Given the description of an element on the screen output the (x, y) to click on. 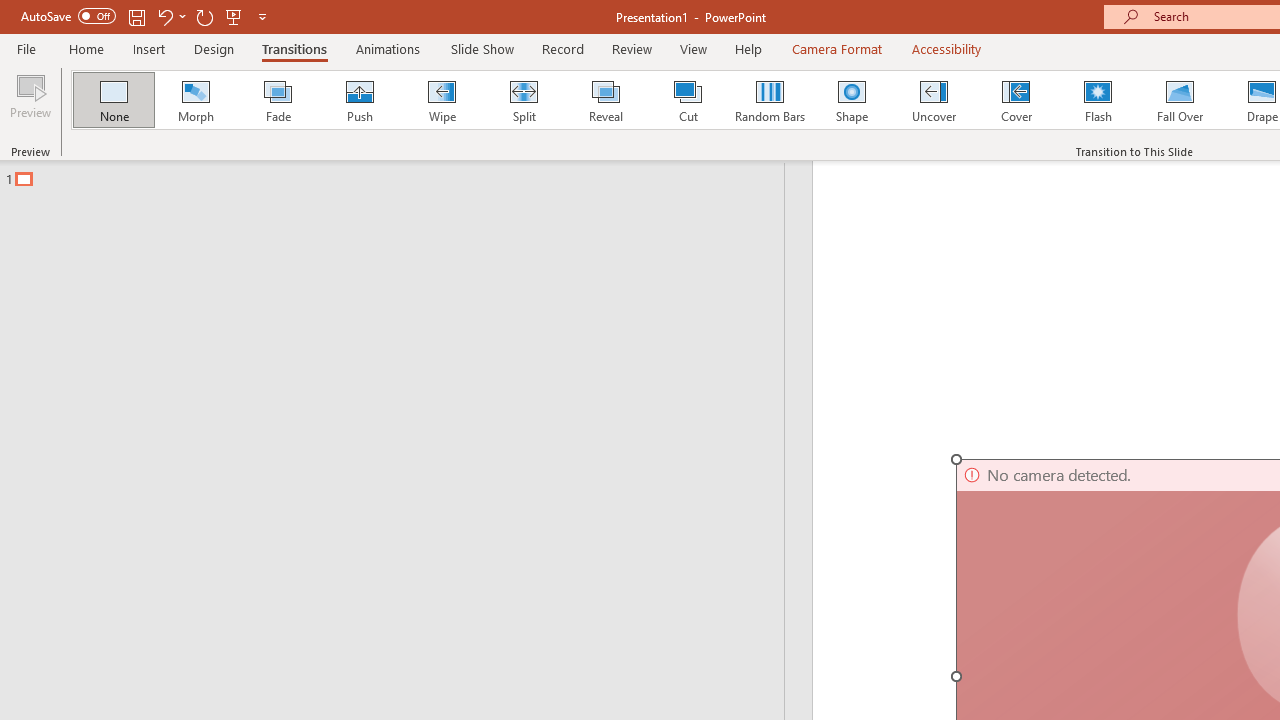
Camera Format (836, 48)
None (113, 100)
Shape (852, 100)
Morph (195, 100)
